Given the description of an element on the screen output the (x, y) to click on. 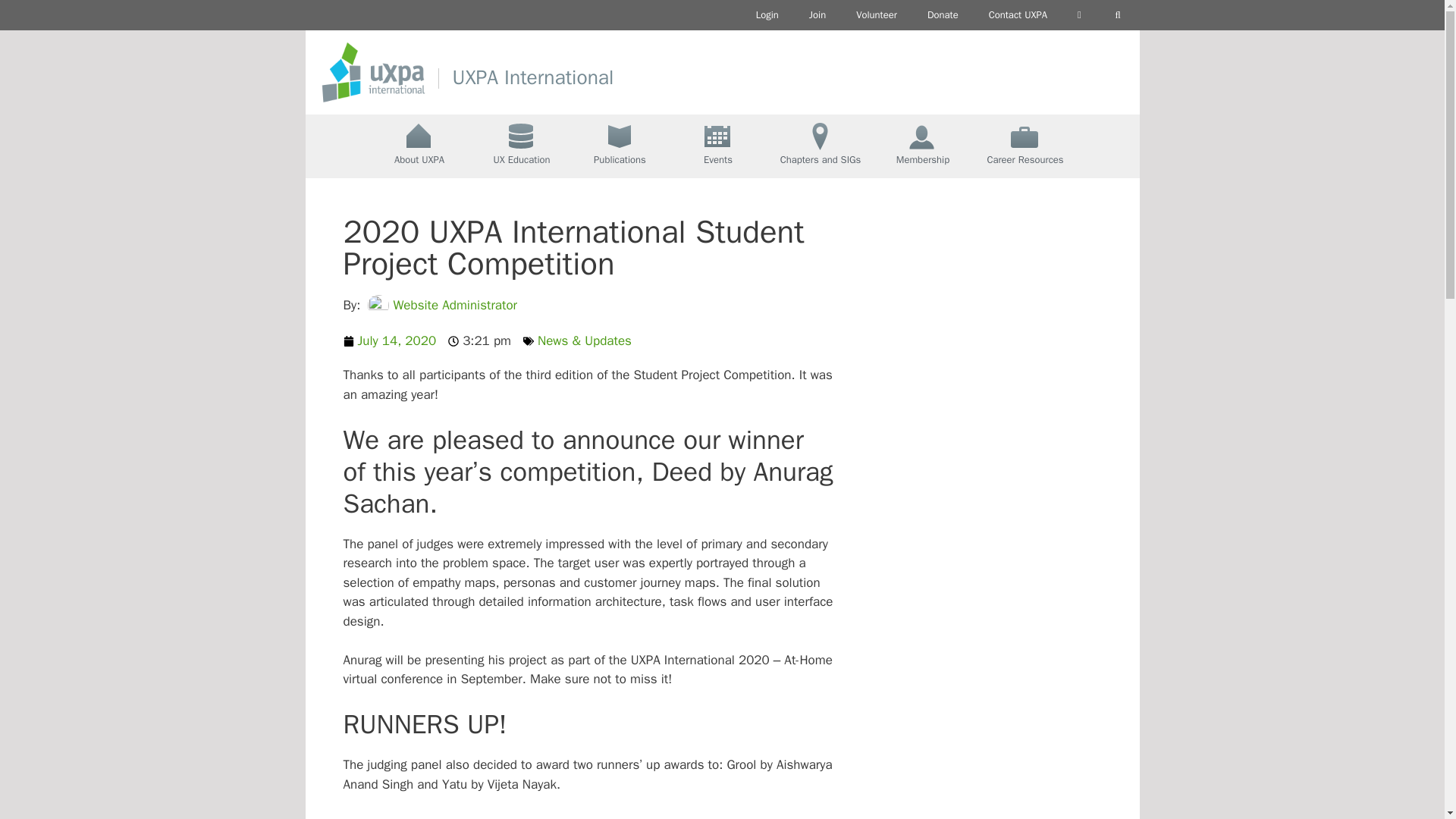
Contact UXPA (1018, 15)
Volunteer (876, 15)
About UXPA (419, 145)
Publications (619, 145)
Events (718, 145)
UXPA International (531, 77)
View your shopping cart (1079, 15)
Posts by Website Administrator (454, 304)
Donate (943, 15)
Login (767, 15)
Join (817, 15)
Search (1118, 15)
UX Education (521, 145)
